Given the description of an element on the screen output the (x, y) to click on. 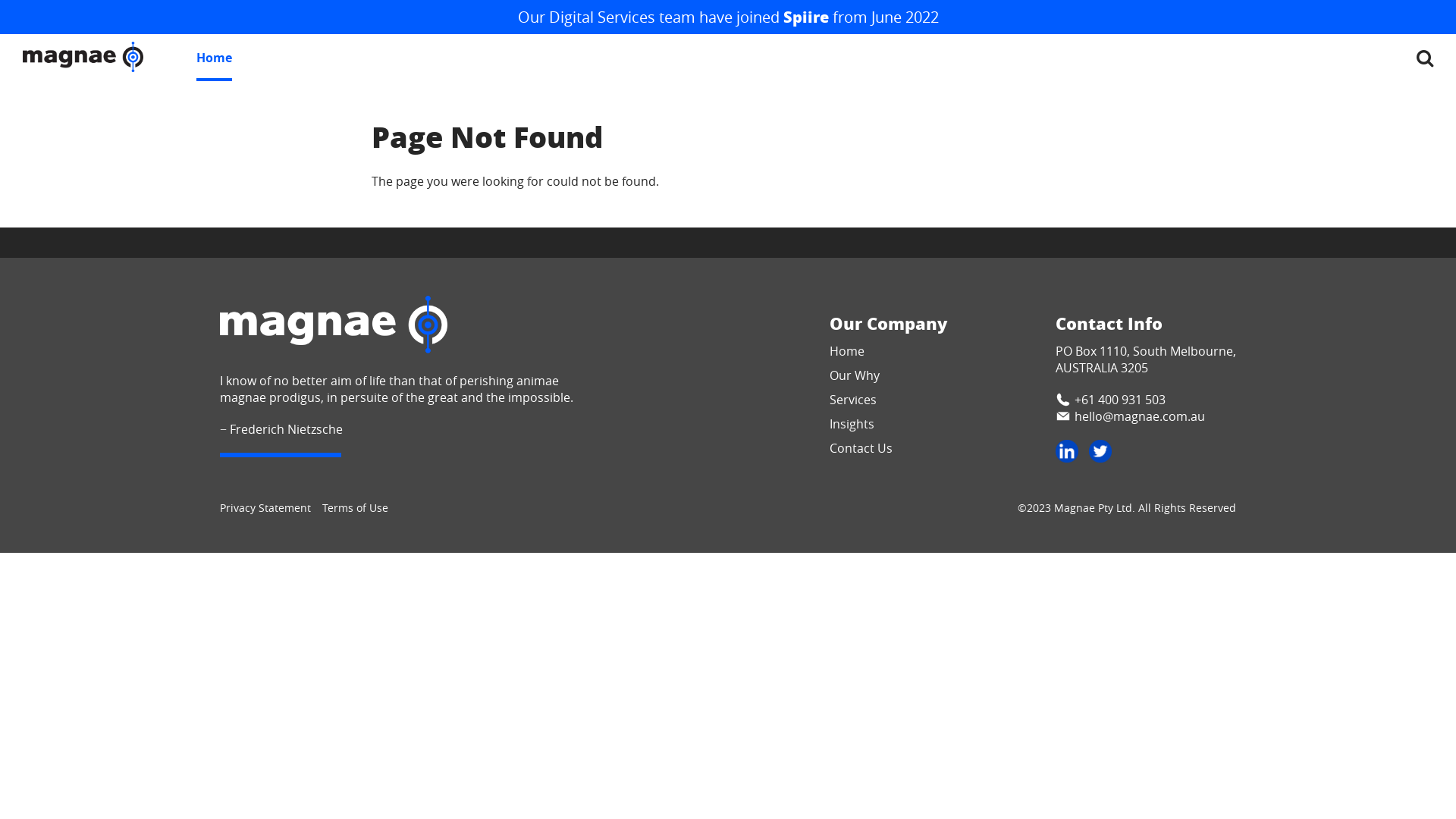
Services Element type: text (852, 399)
Insights Element type: text (851, 423)
Home Element type: text (214, 57)
Contact Us Element type: text (860, 447)
hello@magnae.com.au Element type: text (1145, 415)
+61 400 931 503 Element type: text (1145, 399)
Terms of Use Element type: text (355, 507)
Privacy Statement Element type: text (264, 507)
Our Why Element type: text (854, 375)
Home Element type: text (846, 350)
